Given the description of an element on the screen output the (x, y) to click on. 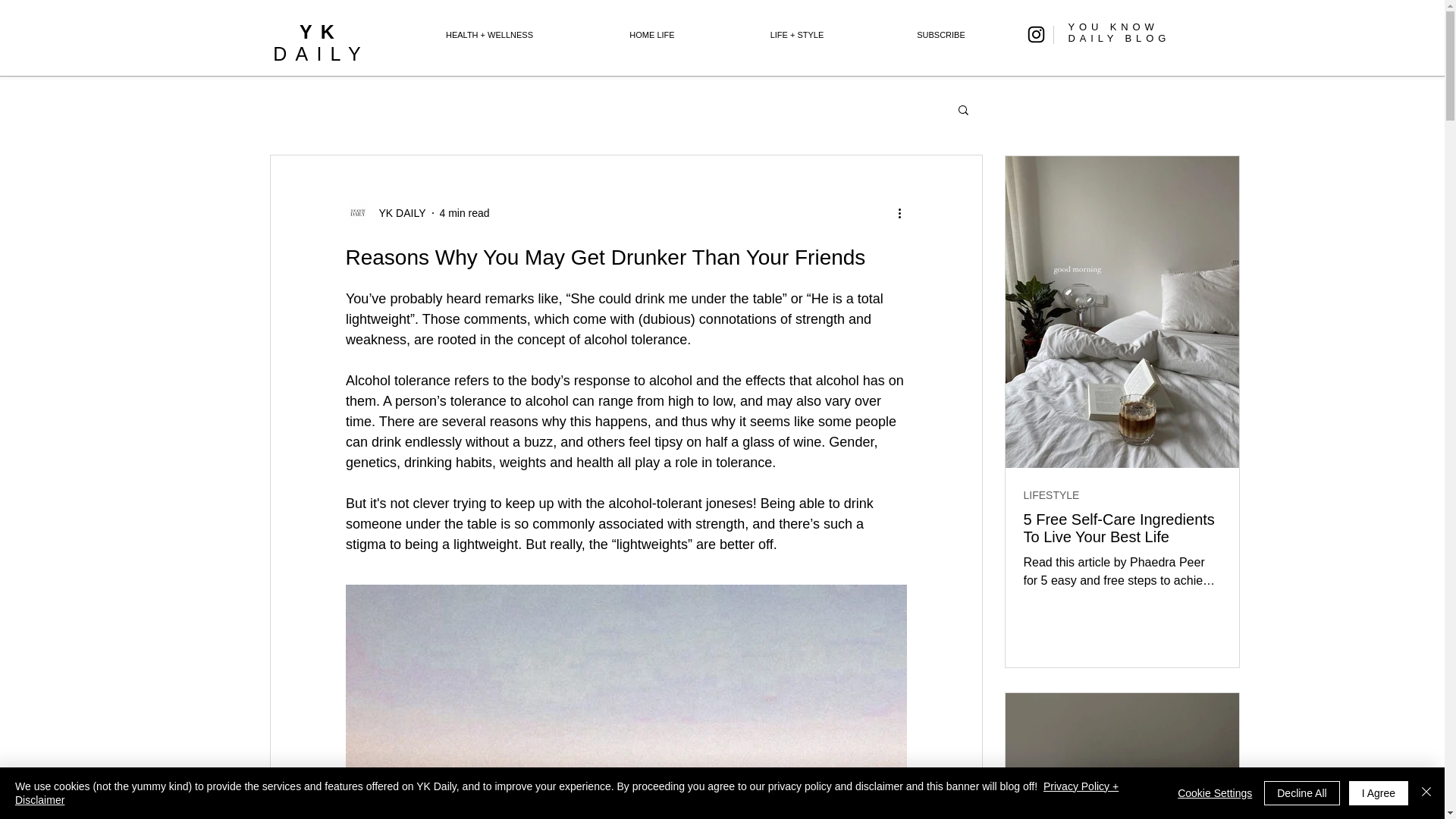
Decline All (1301, 793)
YK DAILY (1118, 32)
YK DAILY (321, 42)
5 Free Self-Care Ingredients To Live Your Best Life (397, 212)
SUBSCRIBE (1122, 528)
YK DAILY (940, 34)
LIFESTYLE (386, 212)
I Agree (1051, 495)
4 min read (1378, 793)
